Given the description of an element on the screen output the (x, y) to click on. 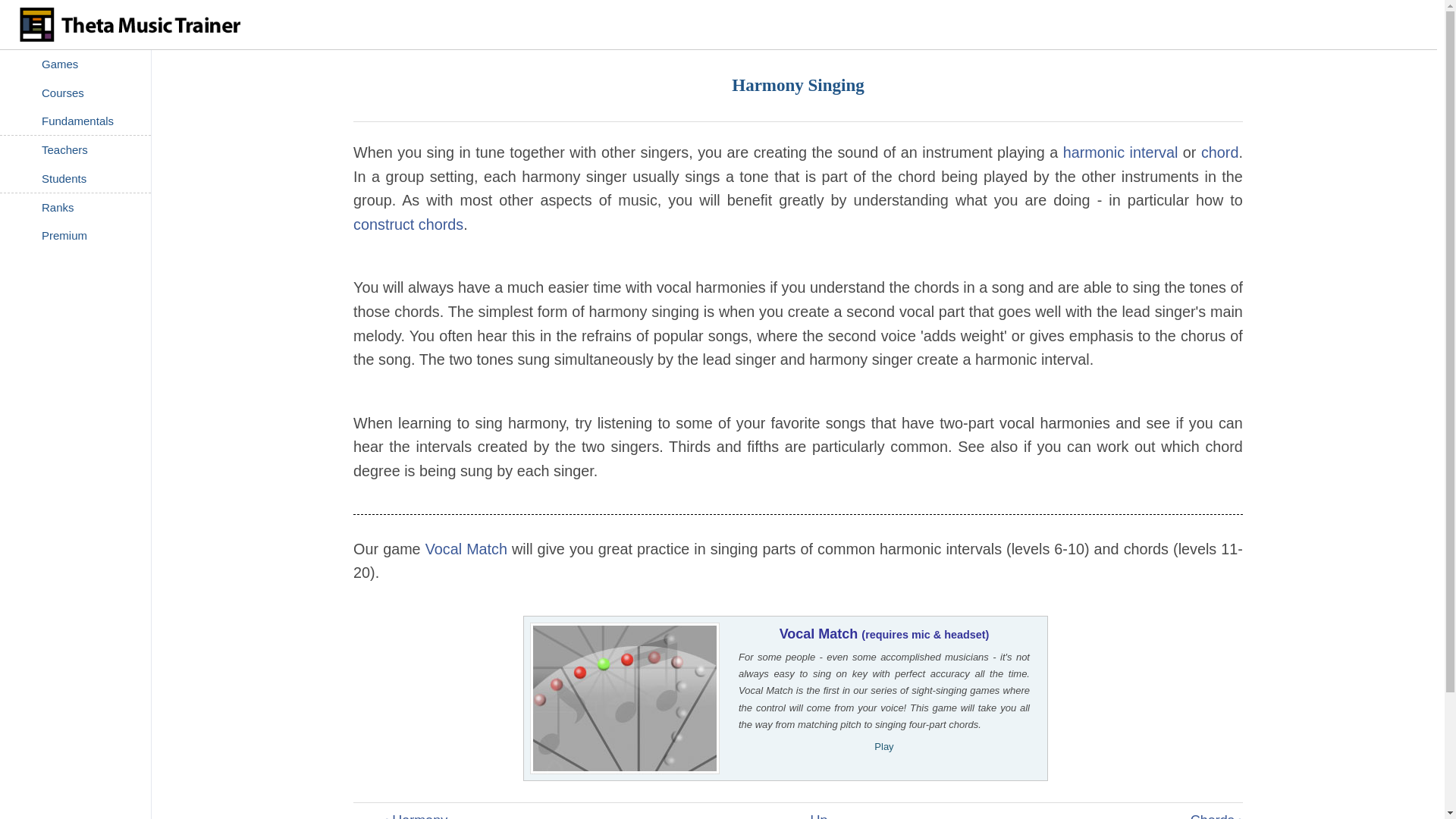
Games (75, 63)
Go to parent page (818, 816)
Go to previous page (415, 816)
Go to next page (1217, 816)
